Given the description of an element on the screen output the (x, y) to click on. 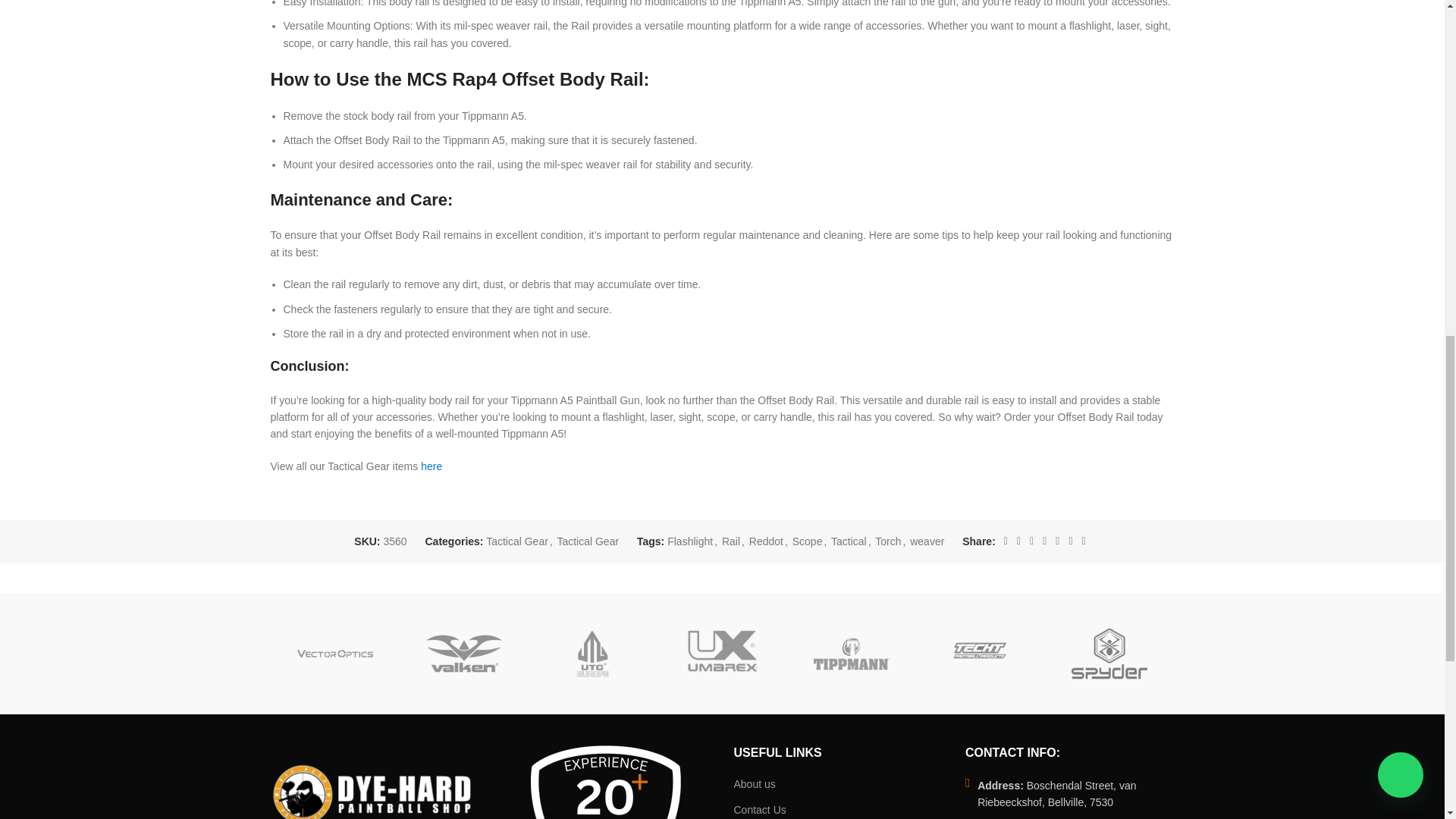
Vector Optics (333, 653)
Valken (463, 653)
